Given the description of an element on the screen output the (x, y) to click on. 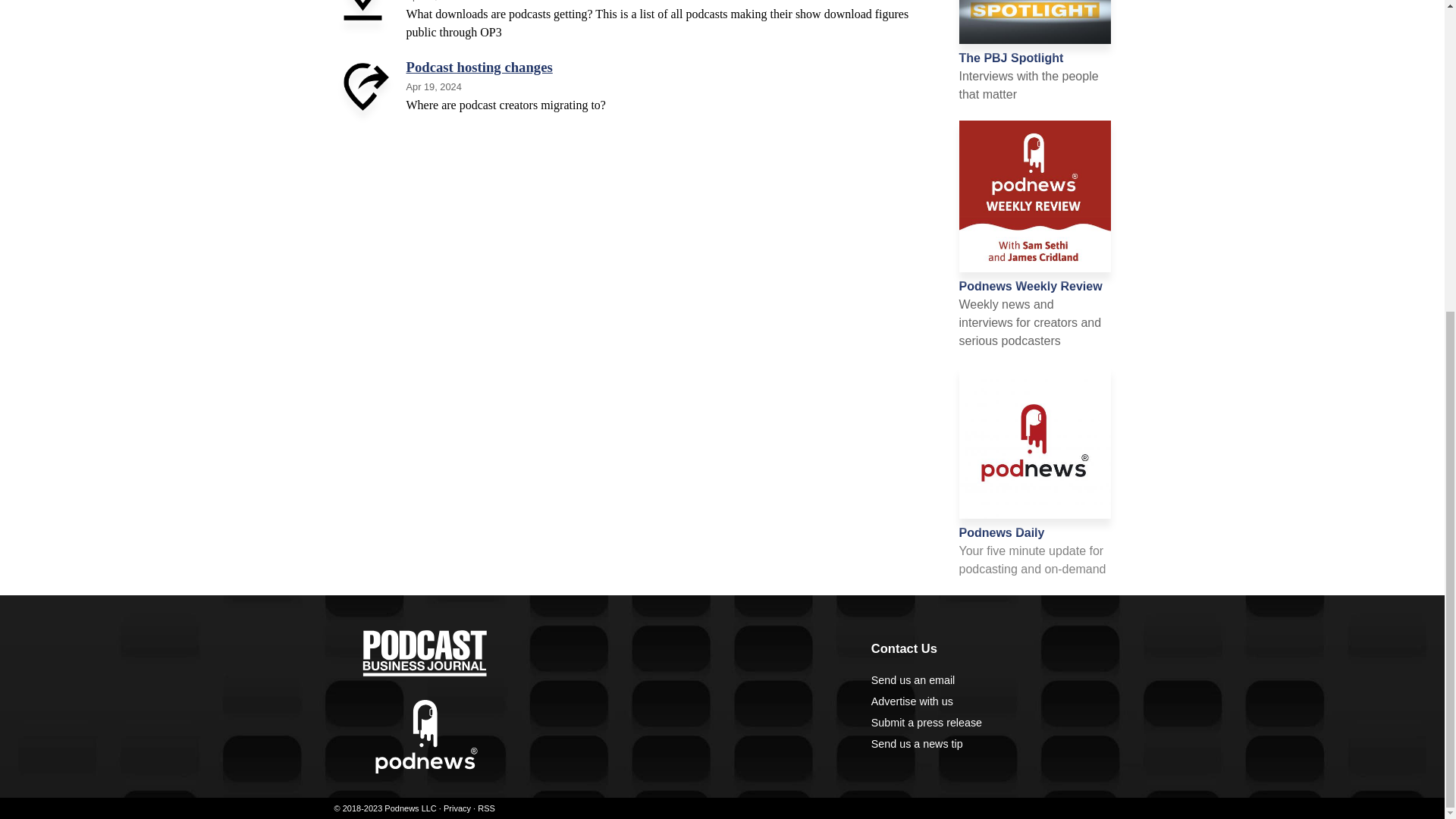
Send us an email (912, 680)
Advertise with us (911, 701)
Podcast hosting changes (479, 66)
RSS (486, 808)
Send us a news tip (916, 743)
Submit a press release (925, 722)
Privacy (457, 808)
Podnews Weekly Review (1030, 286)
The PBJ Spotlight (1010, 57)
Podnews Daily (1000, 532)
